Given the description of an element on the screen output the (x, y) to click on. 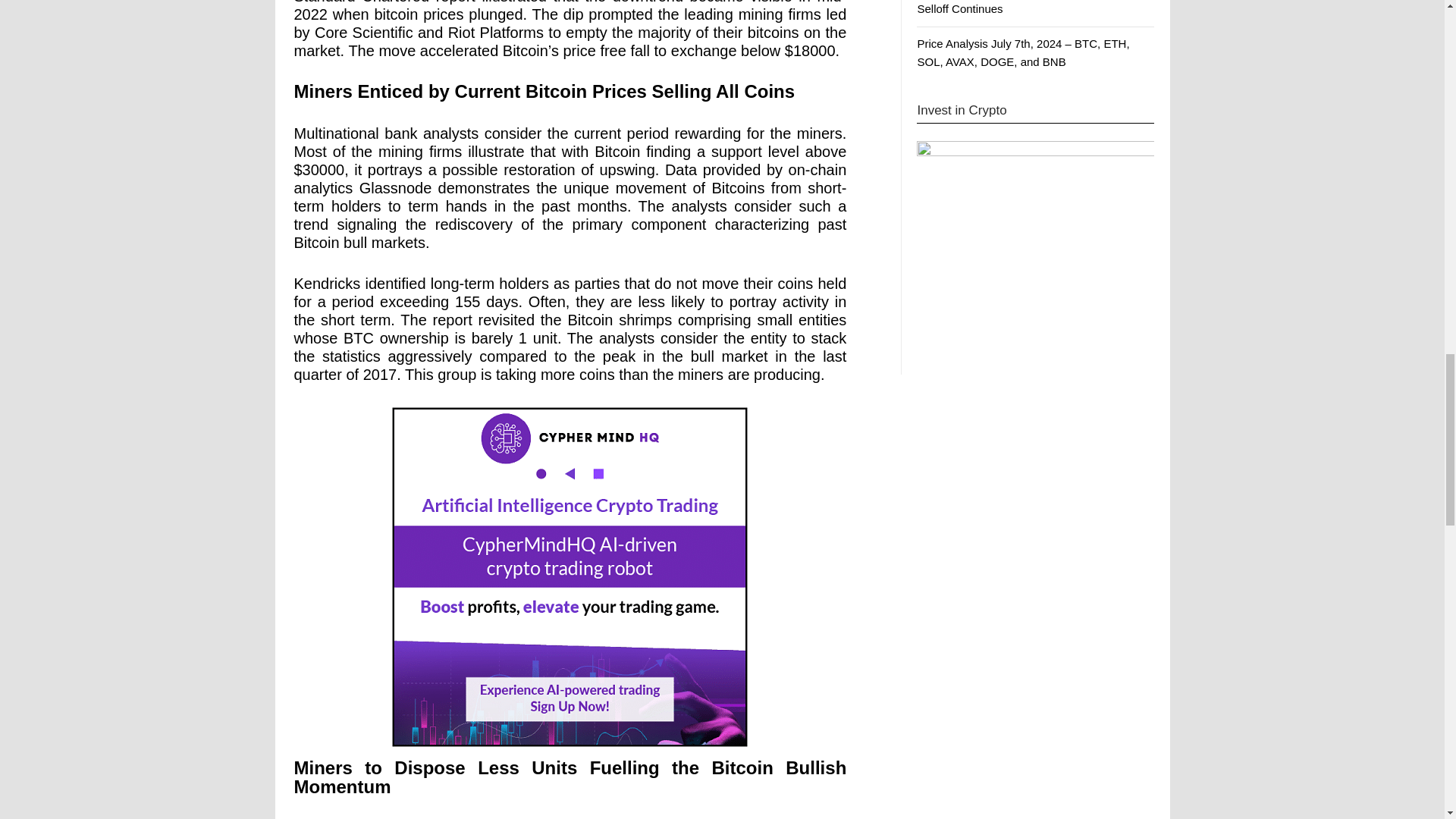
AI Trading (569, 576)
